Given the description of an element on the screen output the (x, y) to click on. 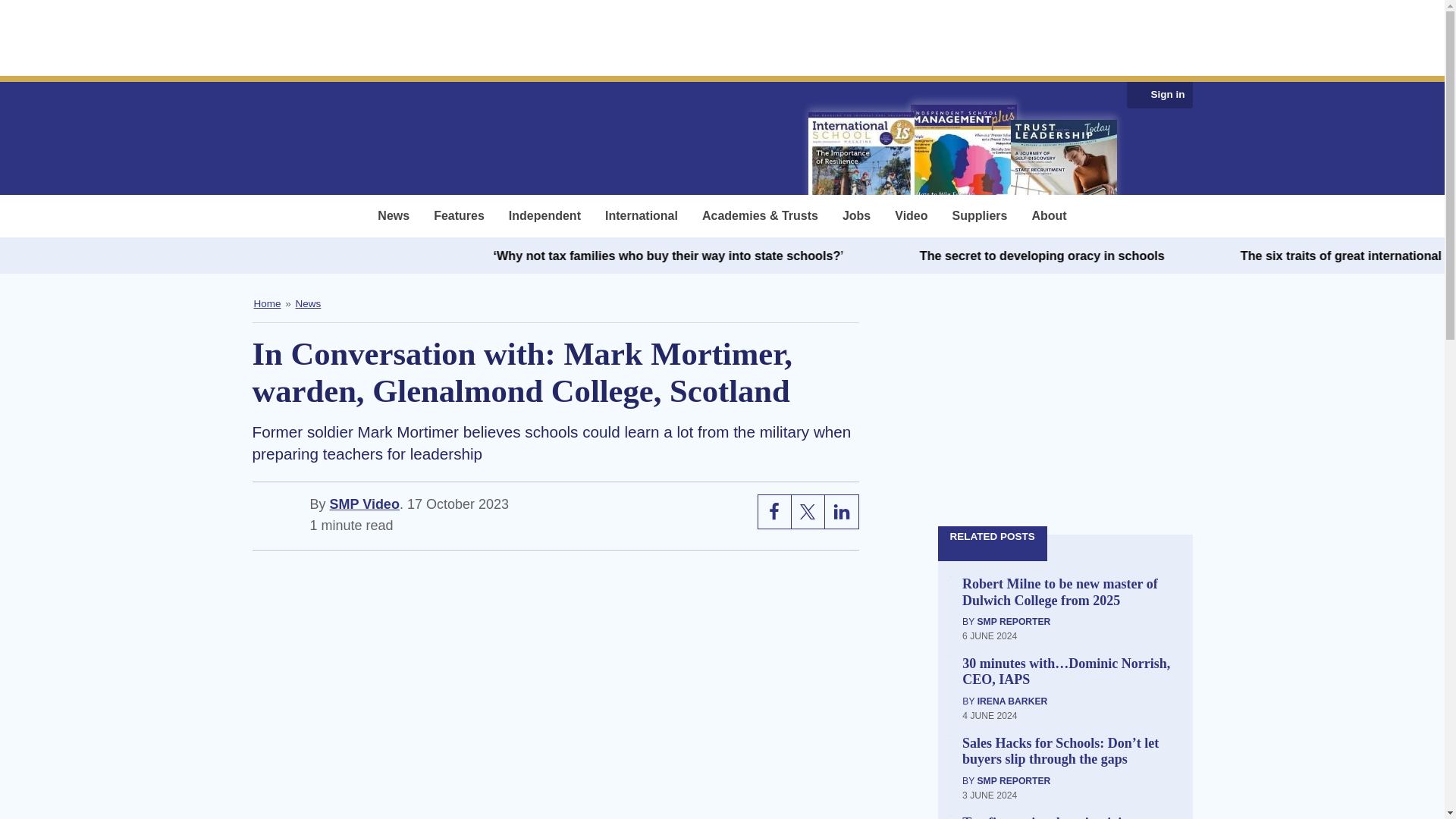
Share on Facebook (775, 511)
Share on Twitter (808, 511)
Share on LinkedIn (842, 511)
Independent (544, 215)
International (641, 215)
Sign in (1168, 94)
Features (458, 215)
